Given the description of an element on the screen output the (x, y) to click on. 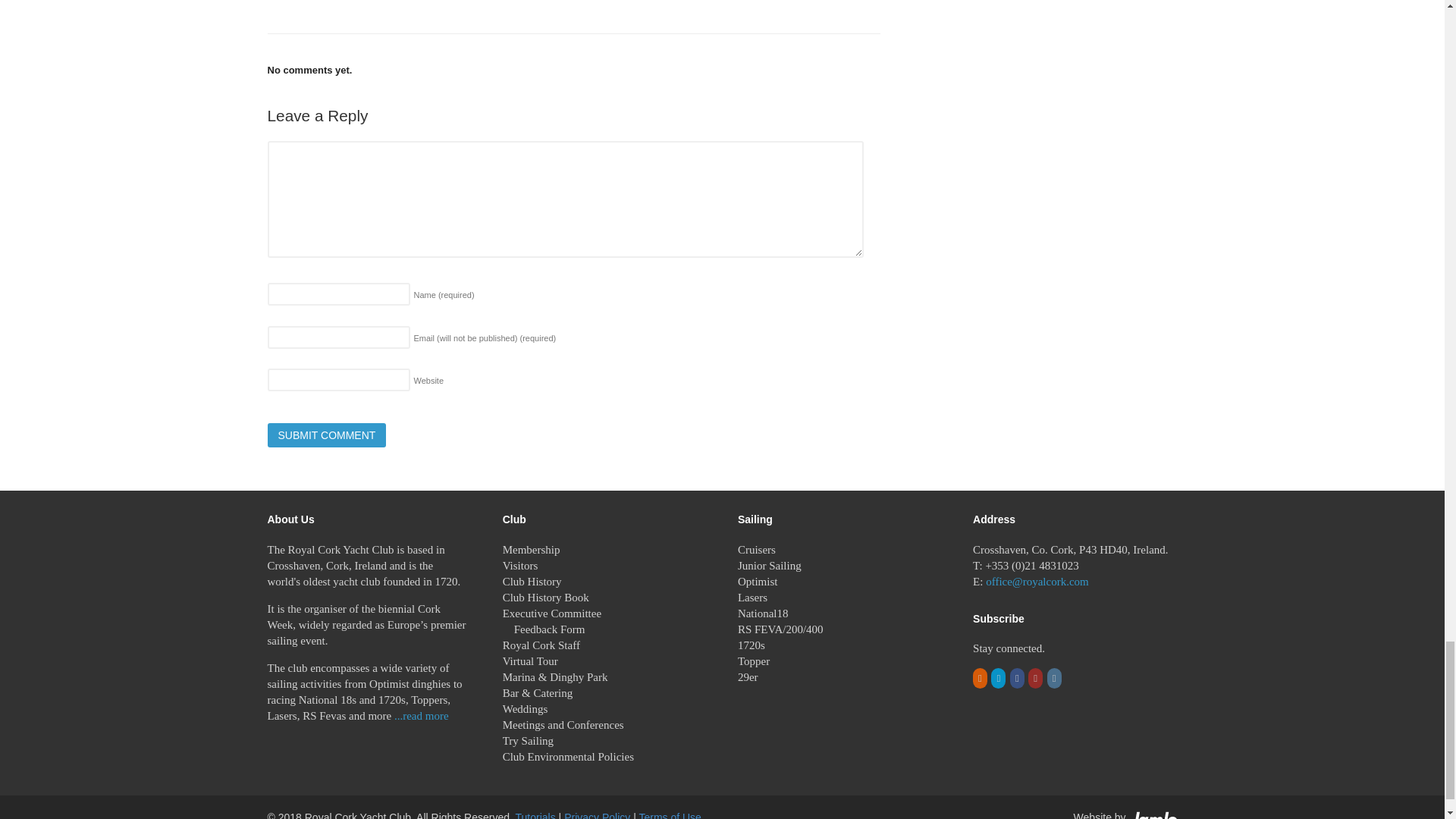
Submit Comment (325, 435)
